Given the description of an element on the screen output the (x, y) to click on. 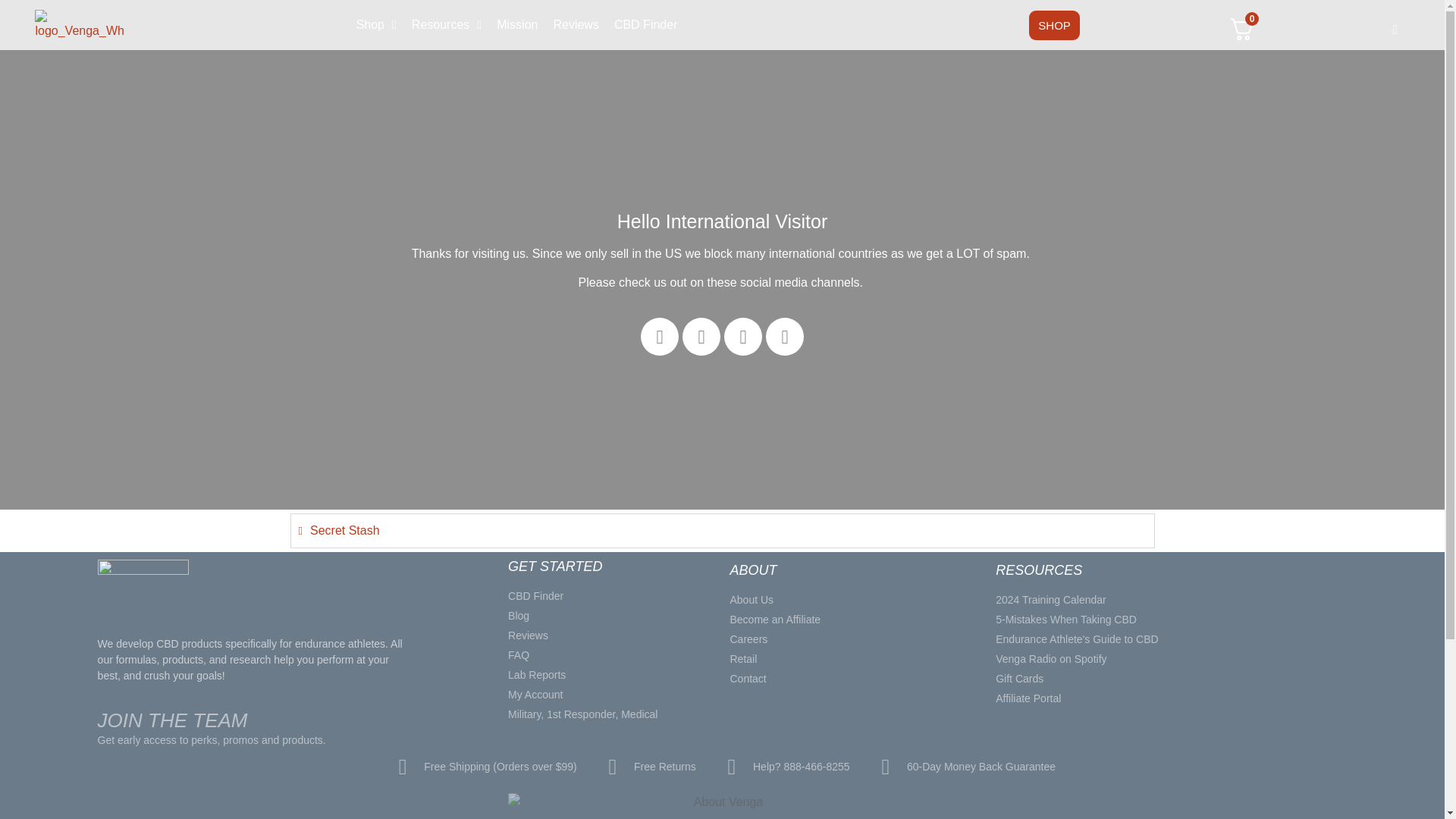
Reviews (574, 24)
CBD Finder (646, 24)
Resources (446, 24)
Mission (516, 24)
Shop (376, 24)
SHOP (1054, 25)
